Given the description of an element on the screen output the (x, y) to click on. 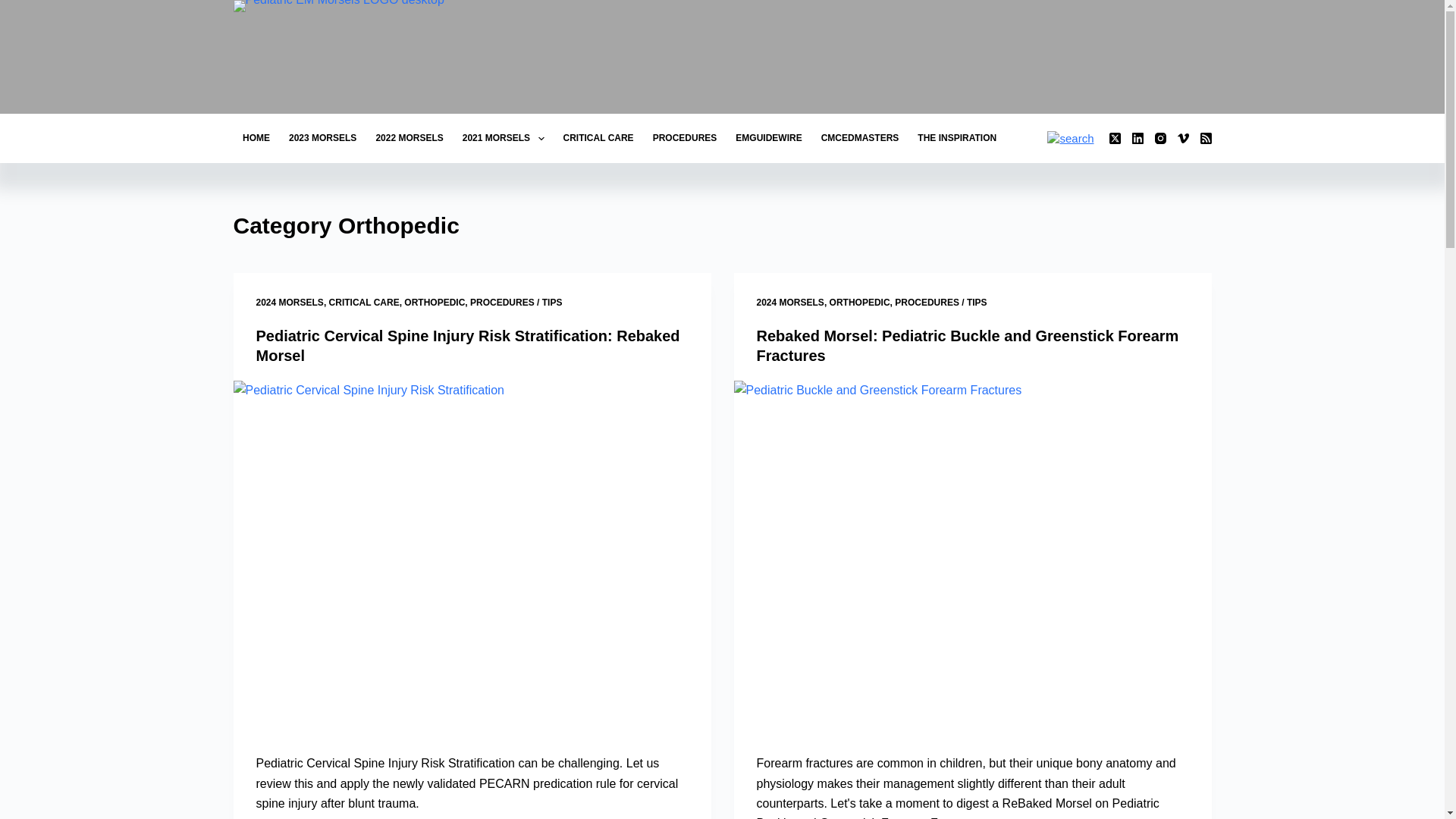
Category Orthopedic (721, 225)
2022 MORSELS (409, 138)
HOME (255, 138)
Skip to content (15, 7)
2021 MORSELS (502, 138)
2023 MORSELS (322, 138)
